Given the description of an element on the screen output the (x, y) to click on. 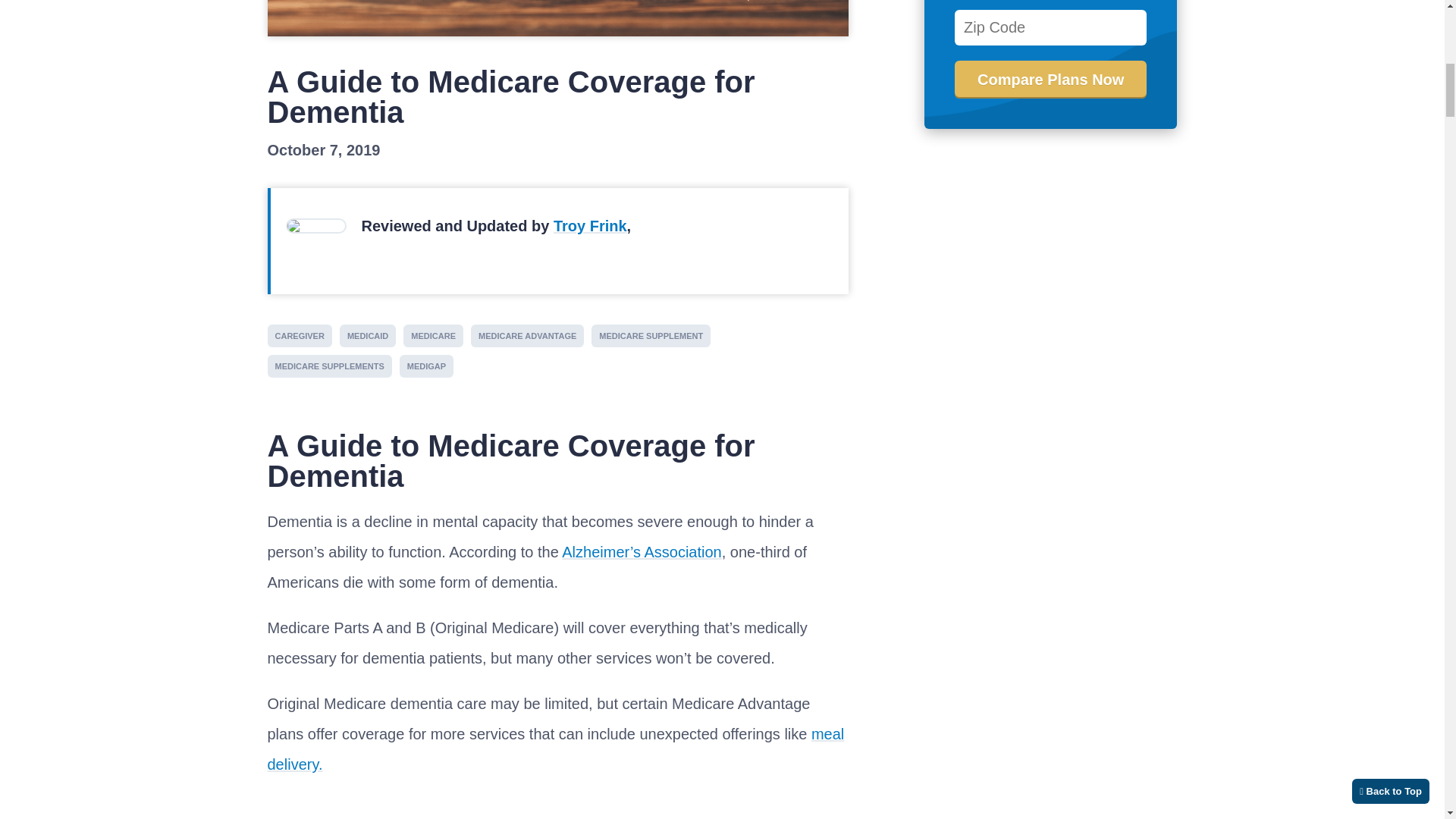
Compare Plans Now (1051, 79)
